Given the description of an element on the screen output the (x, y) to click on. 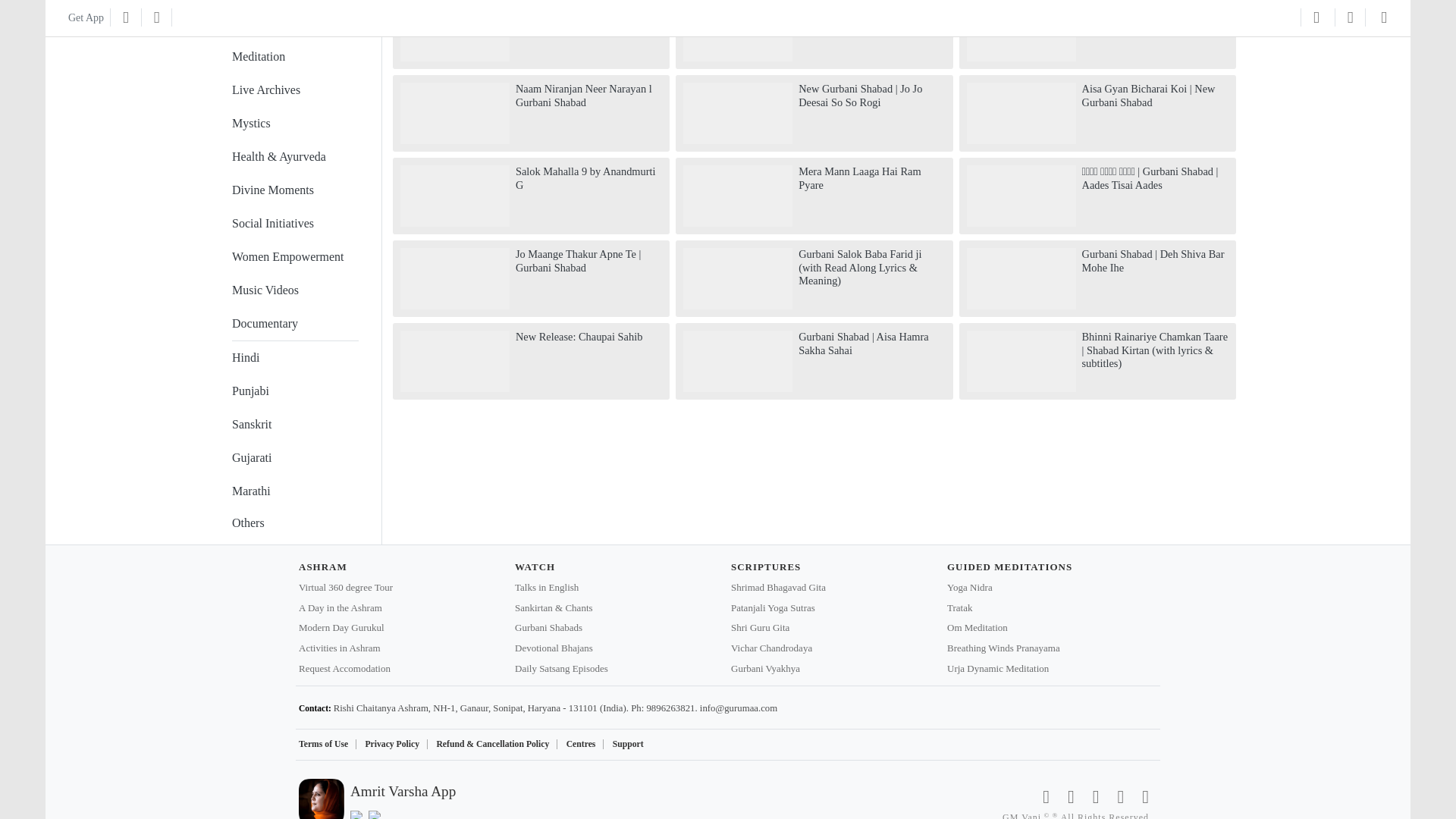
51 videos (294, 123)
47 videos (294, 156)
76 videos (294, 90)
38 videos (294, 190)
13 videos (294, 256)
99 videos (294, 56)
103 videos (294, 20)
16 videos (294, 223)
